Given the description of an element on the screen output the (x, y) to click on. 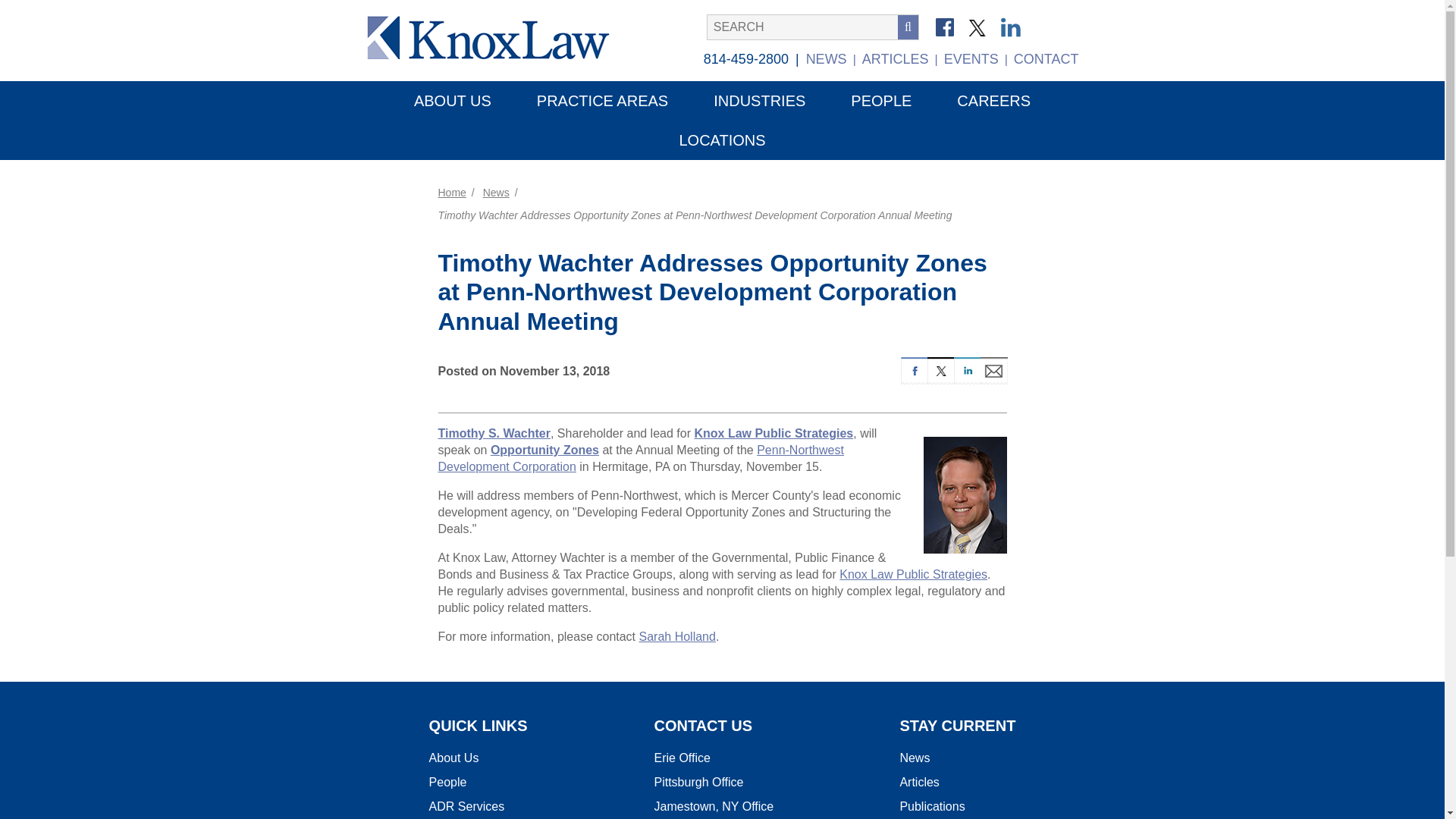
CONTACT (1045, 58)
EVENTS (970, 58)
Email (993, 369)
INDUSTRIES (759, 100)
ABOUT US (452, 100)
ARTICLES (894, 58)
NEWS (826, 58)
Back to Home Page (496, 35)
Share on LinkedIn (966, 369)
Share on Facebook (914, 369)
Tweet (939, 369)
PRACTICE AREAS (601, 100)
Skip to main content (94, 3)
